Given the description of an element on the screen output the (x, y) to click on. 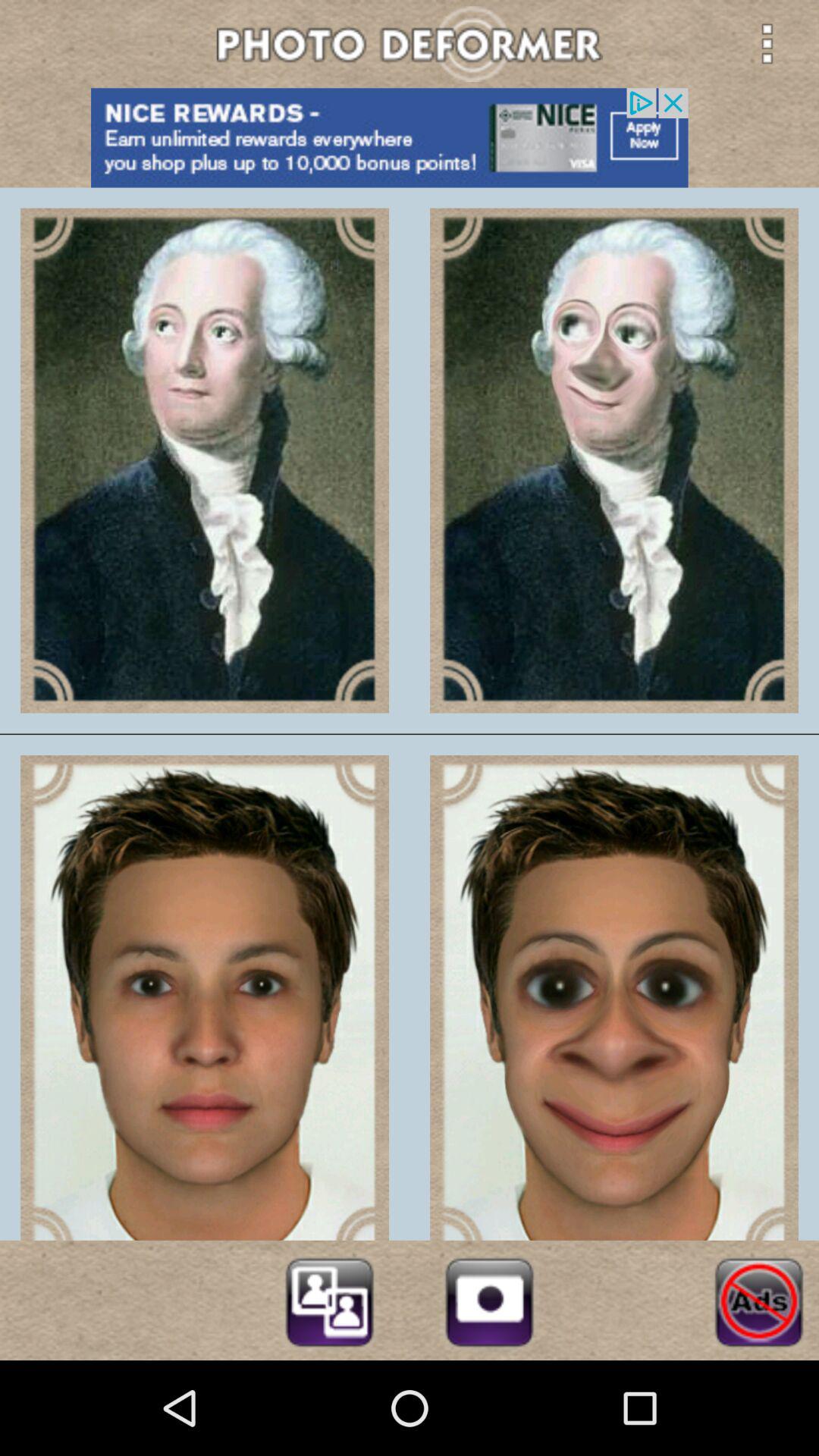
deform the photo (329, 1300)
